Given the description of an element on the screen output the (x, y) to click on. 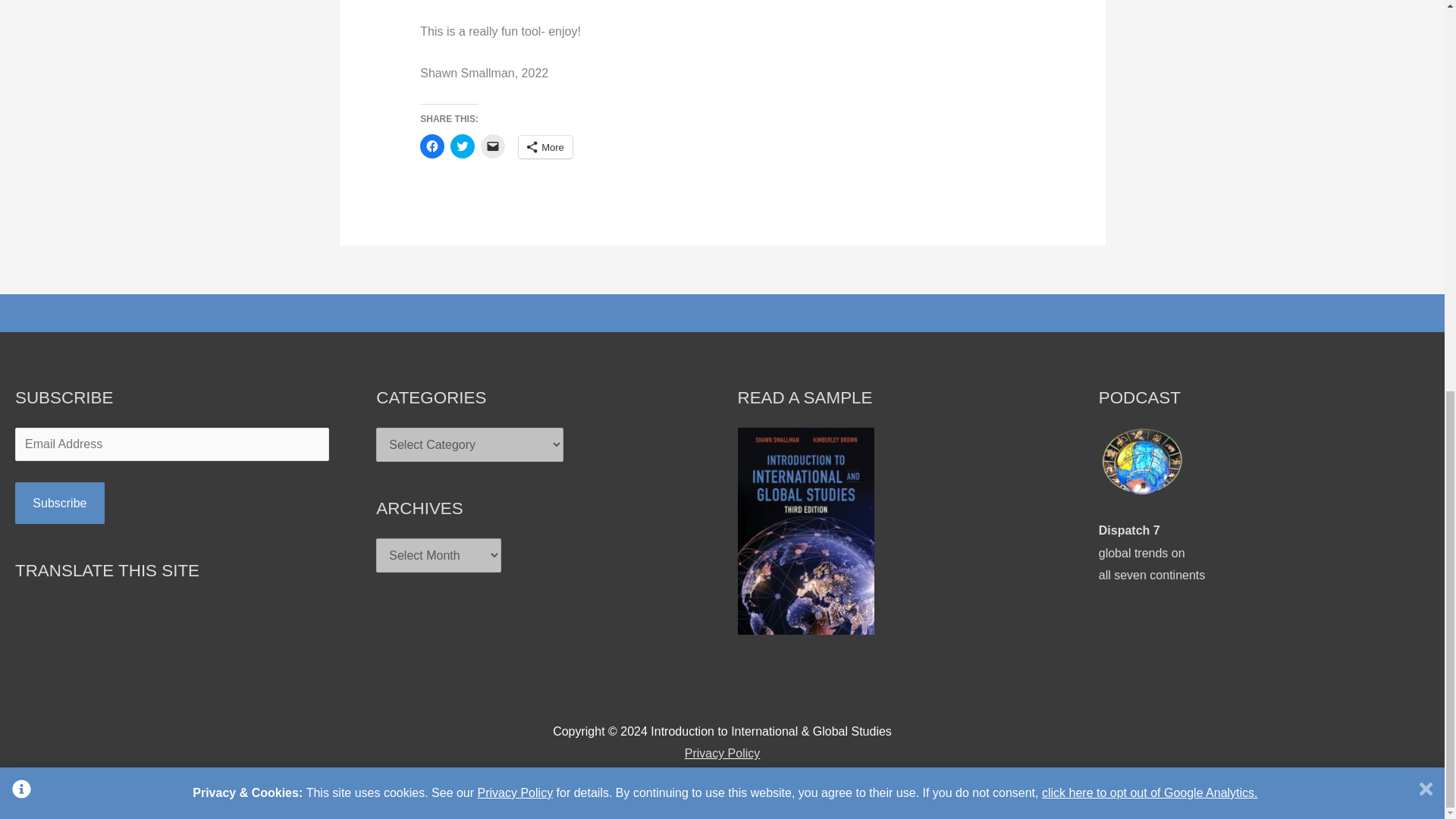
click here to opt out of Google Analytics. (1152, 552)
Privacy Policy (1149, 45)
Click to email a link to a friend (515, 45)
More (492, 146)
Subscribe (545, 146)
Privacy Policy (59, 503)
Click to share on Twitter (722, 753)
Click to share on Facebook (461, 146)
